Given the description of an element on the screen output the (x, y) to click on. 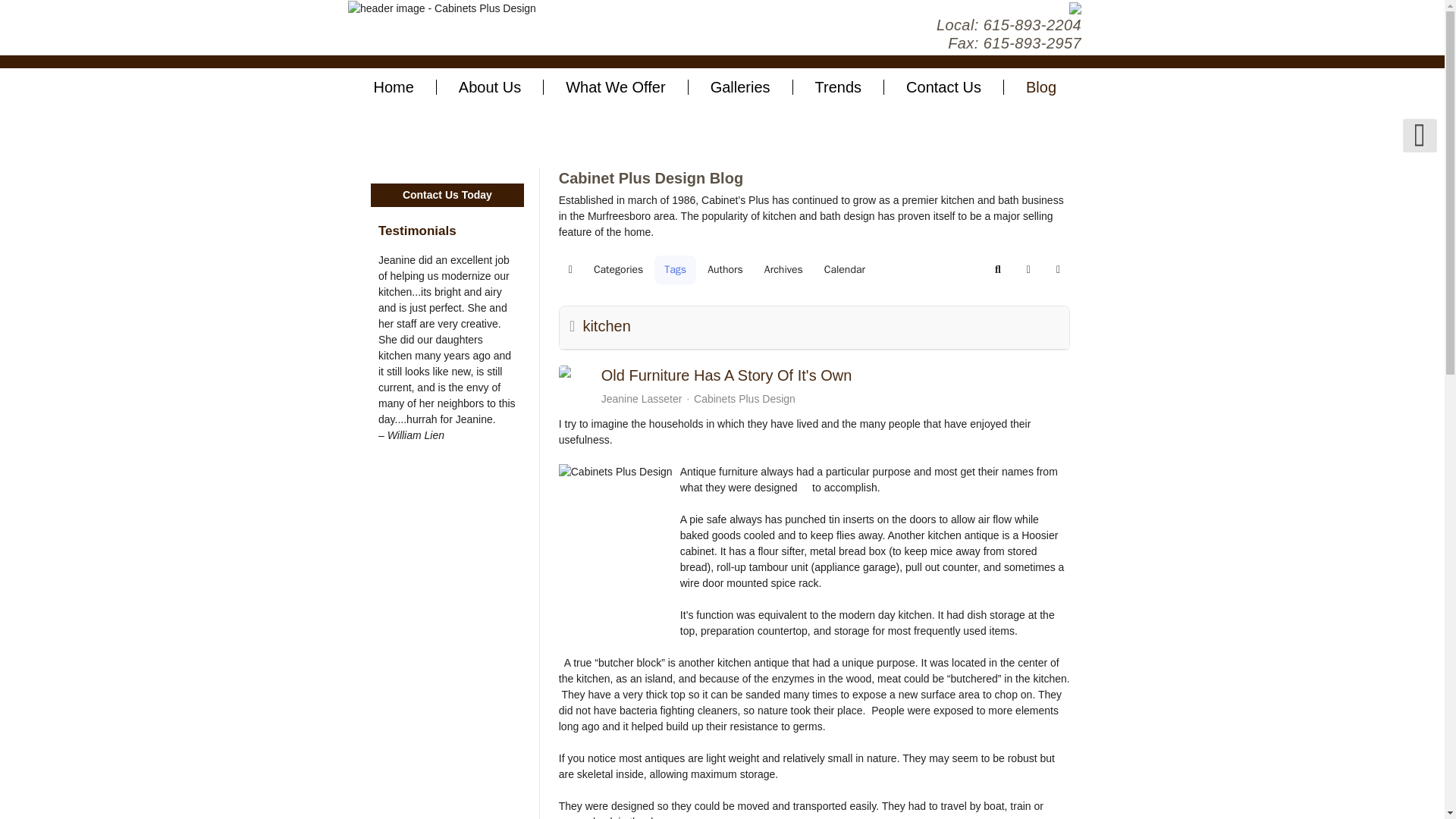
Cabinets Plus Design (441, 8)
Categories (617, 269)
What We Offer (615, 87)
Blog (1041, 87)
Tags (674, 269)
Archives (783, 269)
Contact Us (943, 87)
Authors (724, 269)
Trends (839, 87)
About Us (489, 87)
Calendar (844, 269)
Galleries (740, 87)
Home (391, 87)
